Given the description of an element on the screen output the (x, y) to click on. 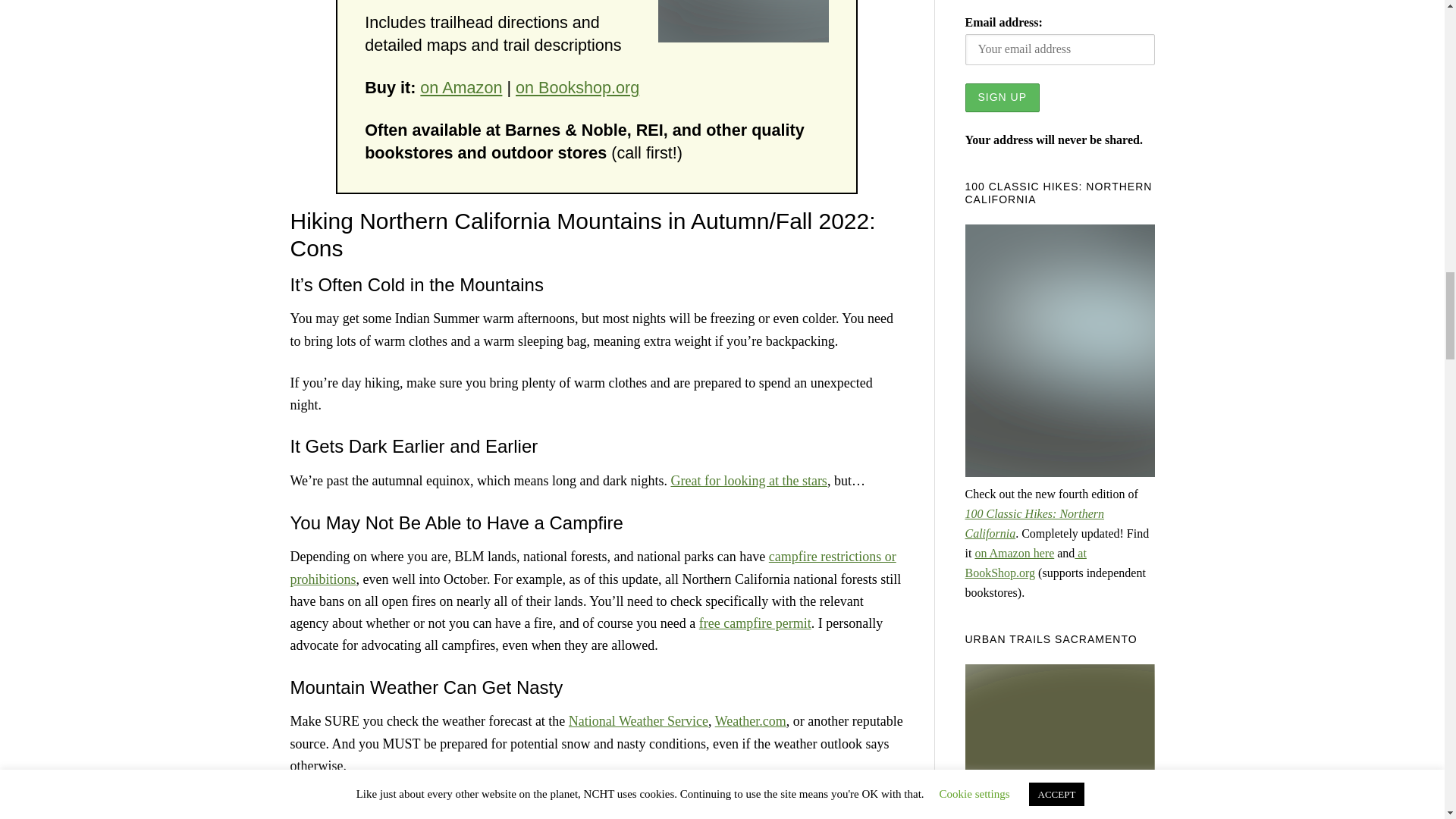
on Bookshop.org (577, 87)
Great for looking at the stars (748, 480)
Sign up (1001, 97)
on Amazon (461, 87)
